Given the description of an element on the screen output the (x, y) to click on. 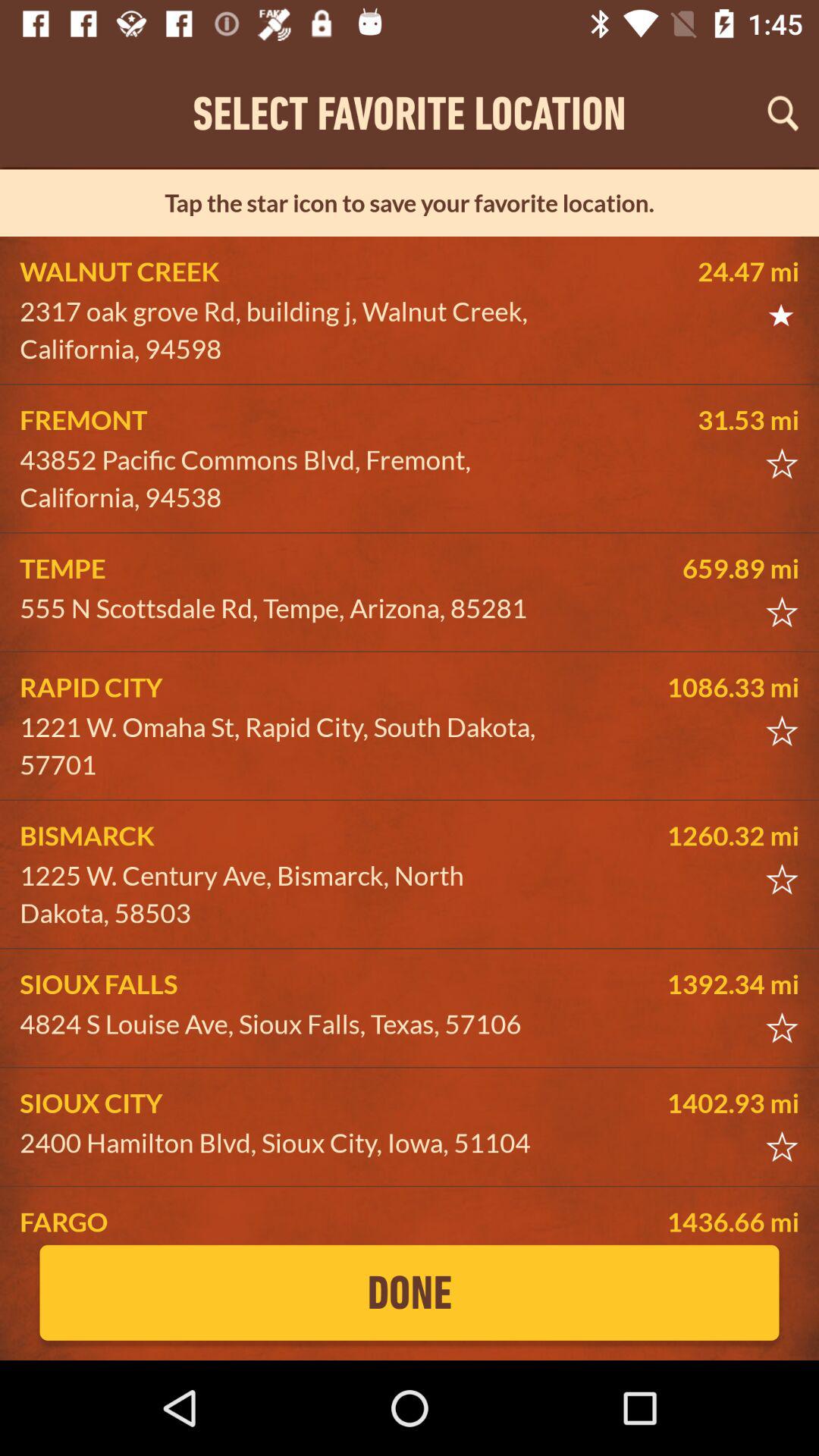
select the icon below the sioux falls icon (285, 1024)
